Given the description of an element on the screen output the (x, y) to click on. 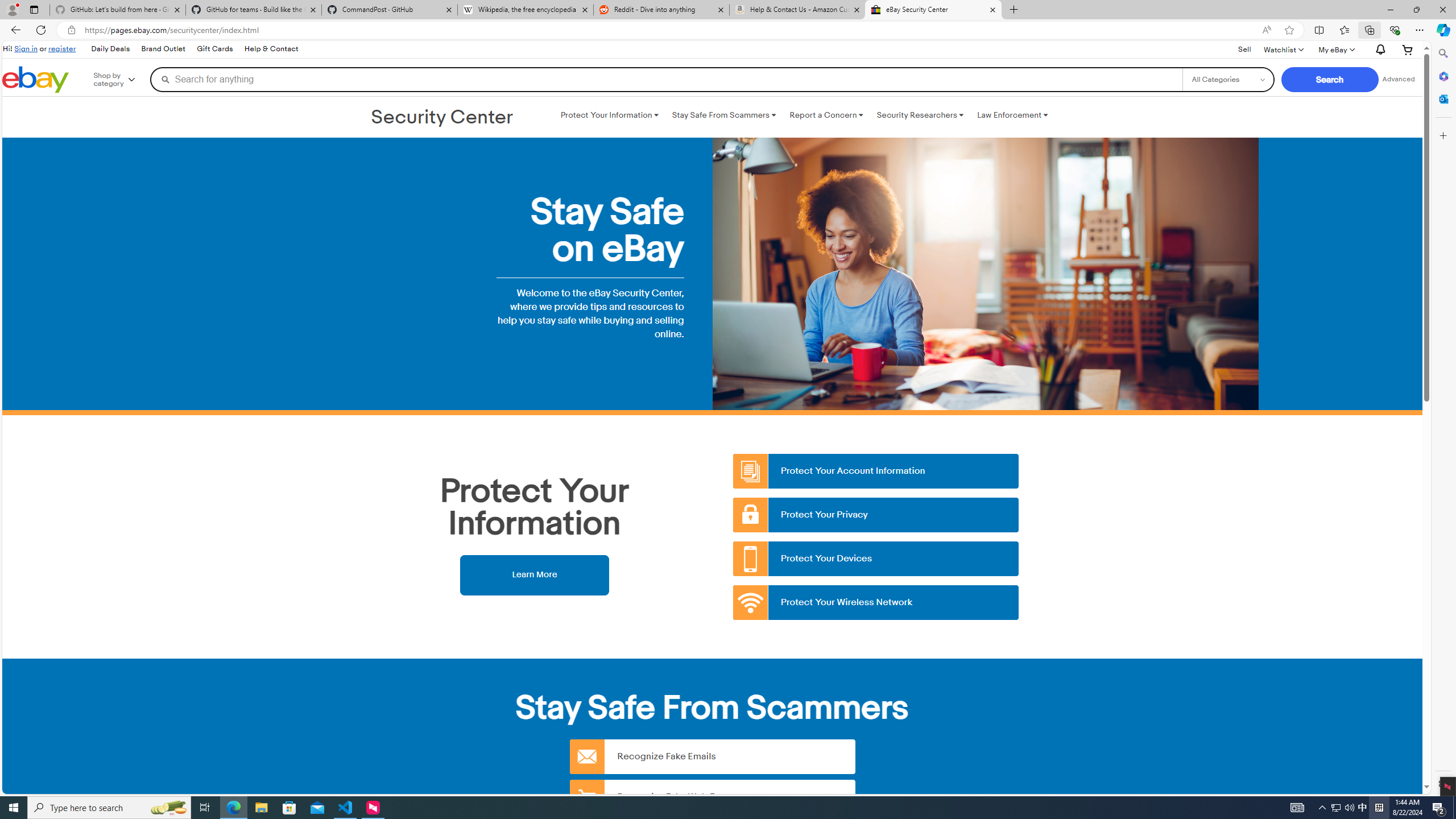
Sell (1244, 49)
WatchlistExpand Watch List (1282, 49)
Help & Contact (271, 49)
Report a Concern  (826, 115)
Stay Safe From Scammers  (723, 115)
Protect Your Privacy (876, 514)
Protect Your Information  (608, 115)
Sell (1244, 49)
Daily Deals (109, 49)
